Given the description of an element on the screen output the (x, y) to click on. 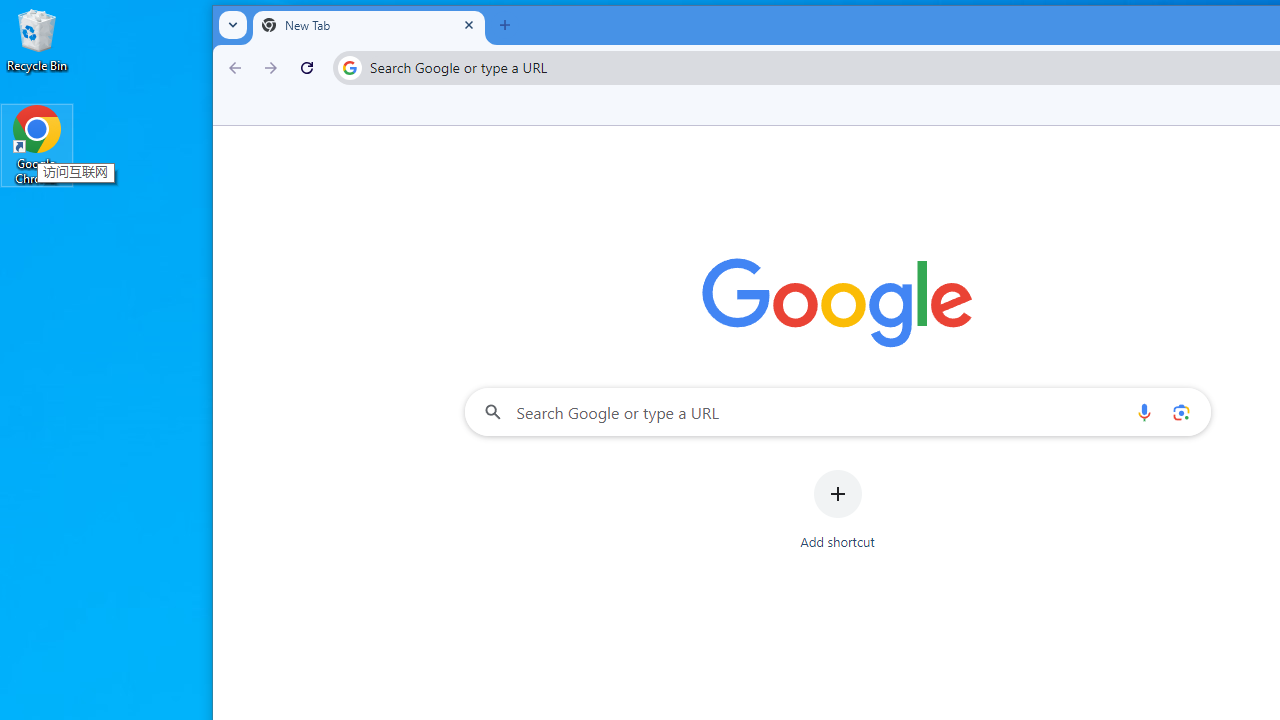
Recycle Bin (37, 39)
Google Chrome (37, 144)
